Given the description of an element on the screen output the (x, y) to click on. 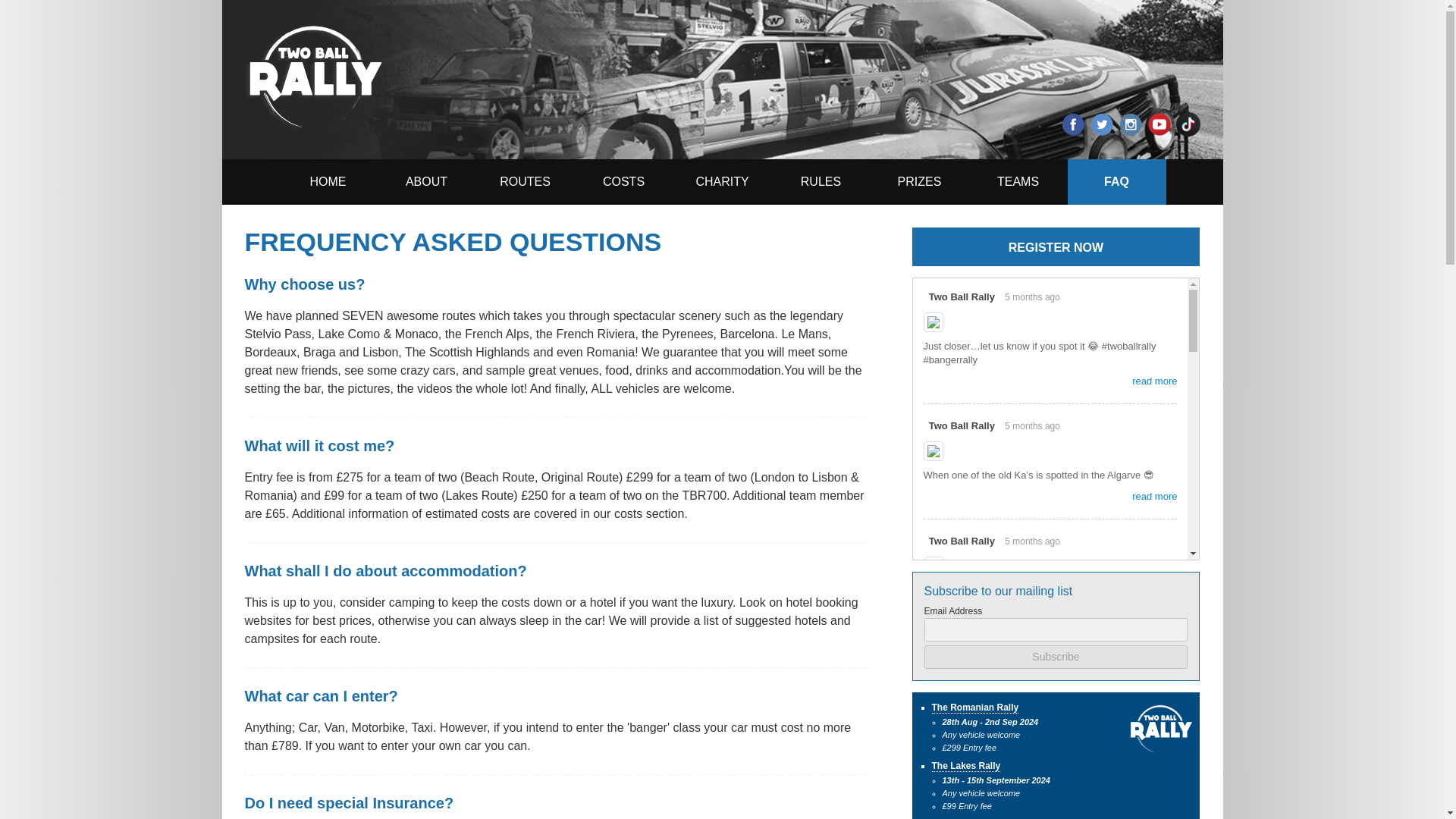
HOME (328, 181)
ROUTES (525, 181)
ABOUT (426, 181)
Subscribe (1055, 657)
